Given the description of an element on the screen output the (x, y) to click on. 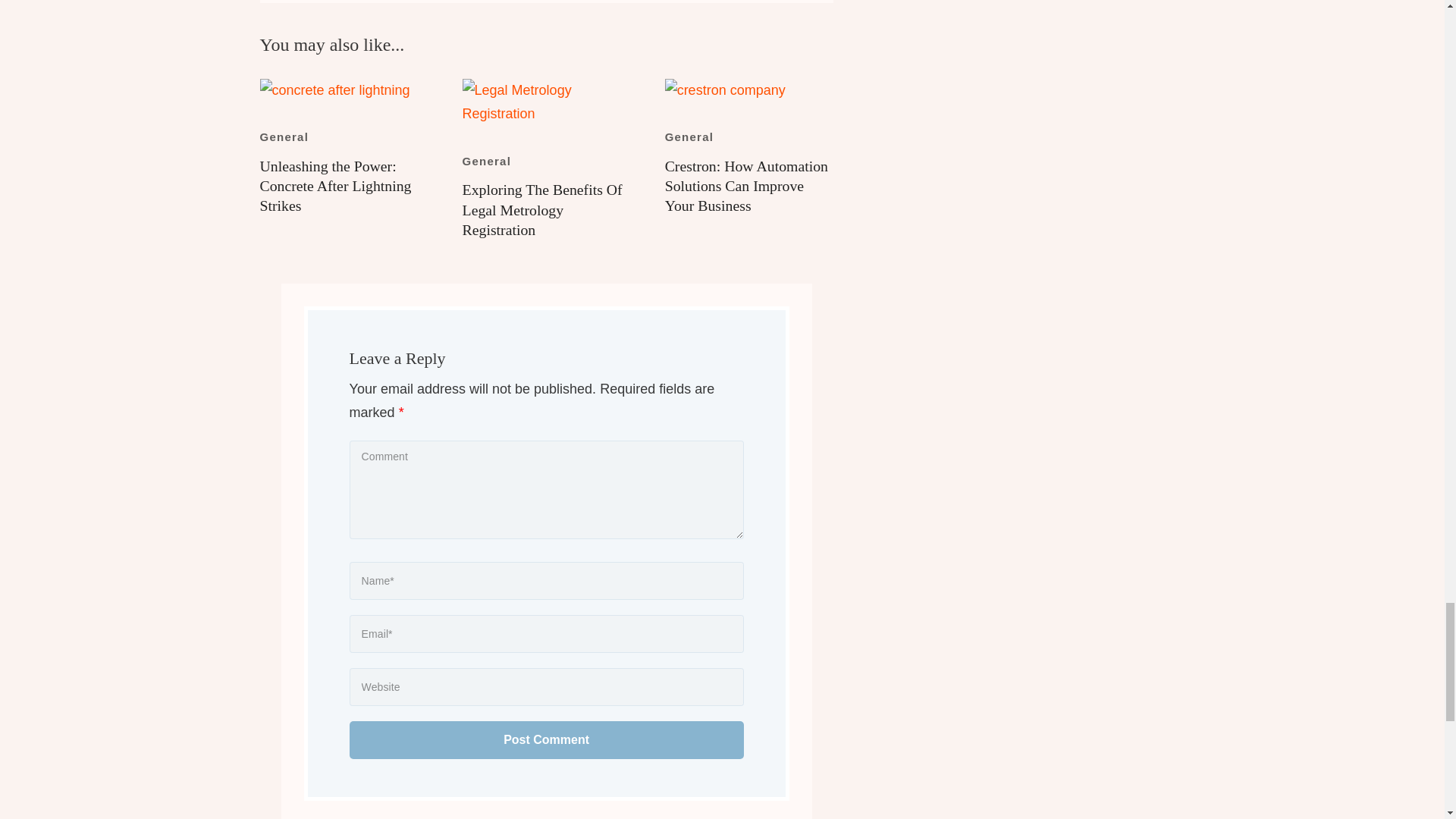
General (283, 136)
Crestron: How Automation Solutions Can Improve Your Business (746, 186)
Post Comment (546, 740)
Unleashing the Power: Concrete After Lightning Strikes (334, 186)
General (689, 136)
General (487, 161)
Exploring The Benefits Of Legal Metrology Registration (543, 209)
